Given the description of an element on the screen output the (x, y) to click on. 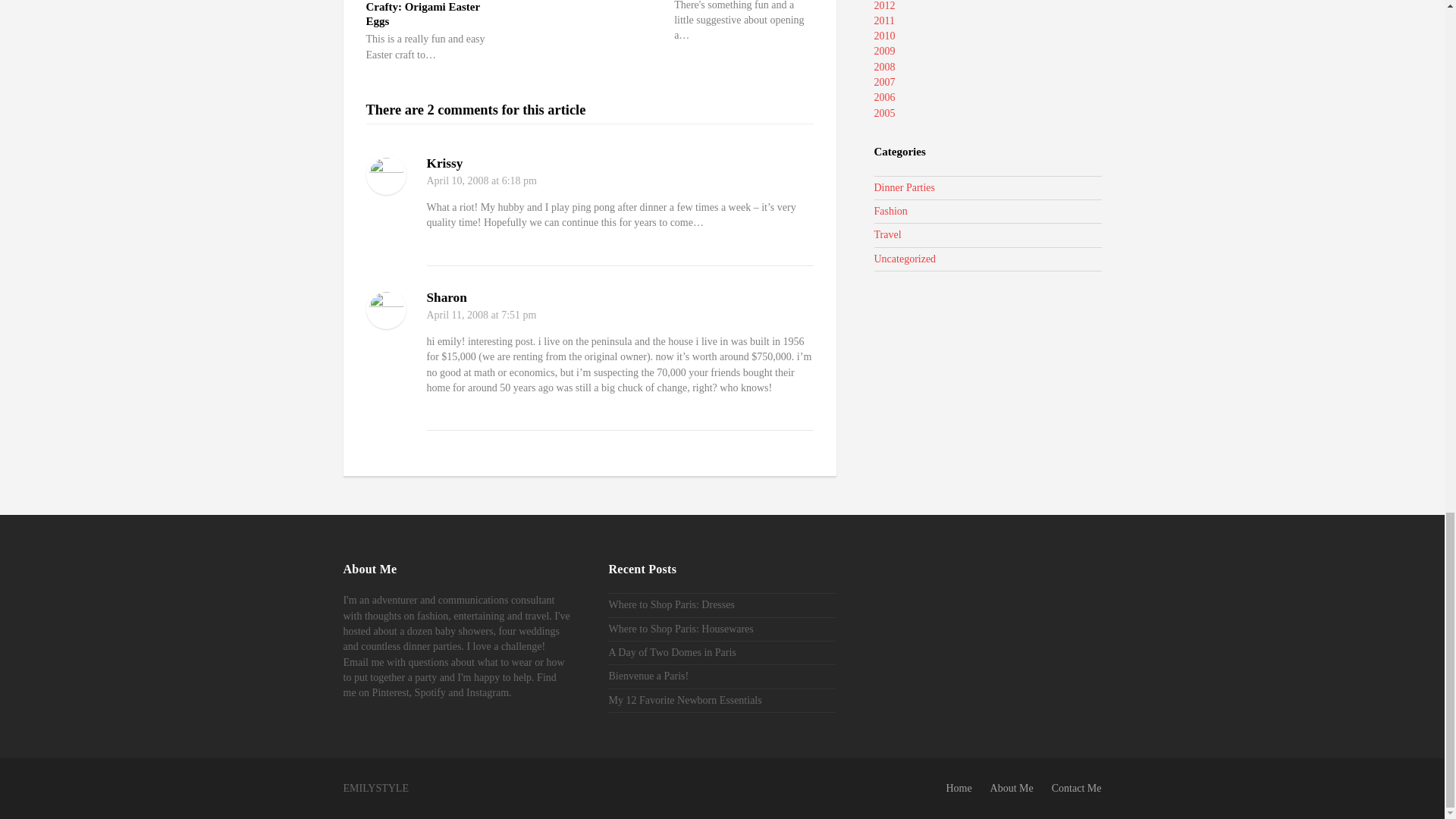
April 10, 2008 (456, 180)
April 11, 2008 (456, 315)
Sharon (445, 297)
Krissy (444, 163)
Crafty: Origami Easter Eggs (422, 13)
